Given the description of an element on the screen output the (x, y) to click on. 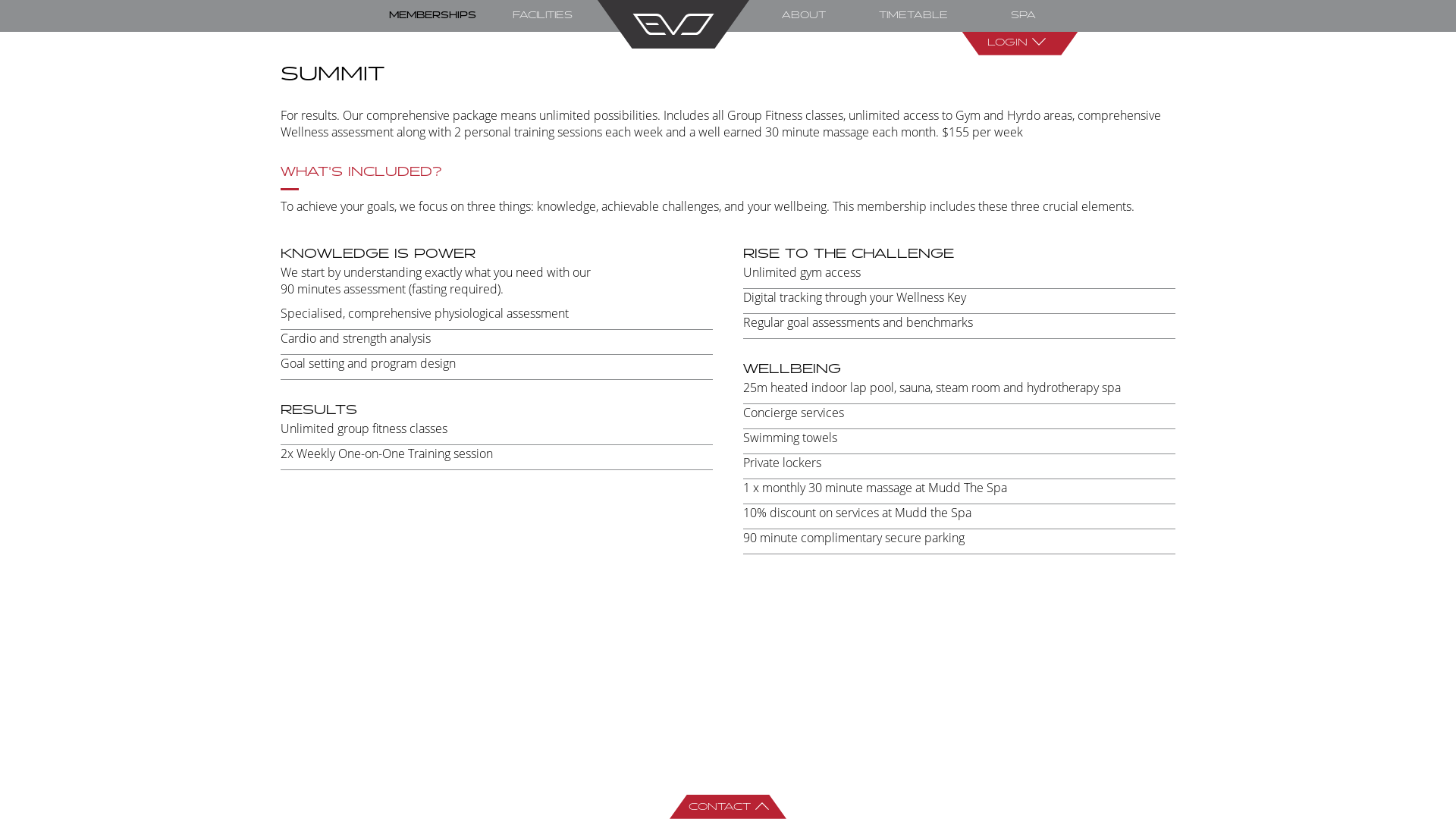
TIMETABLE Element type: text (913, 15)
SPA Element type: text (1023, 15)
LOGIN Element type: text (1019, 43)
FACILITIES Element type: text (542, 15)
ABOUT Element type: text (804, 15)
MEMBERSHIPS Element type: text (432, 15)
HOME Element type: text (673, 24)
